Given the description of an element on the screen output the (x, y) to click on. 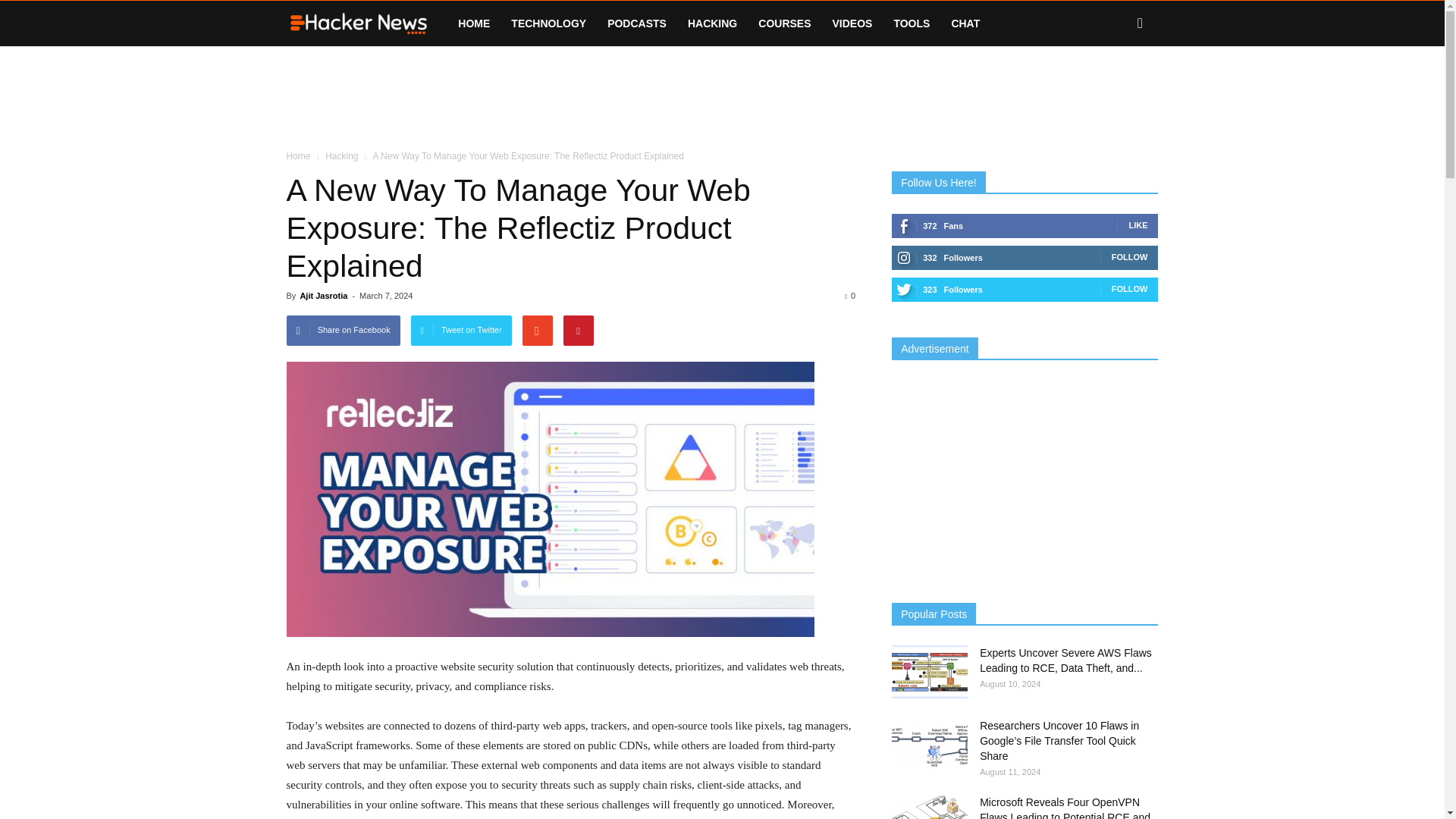
All Hacker News (359, 23)
Home (298, 155)
Tweet on Twitter (461, 330)
PODCASTS (636, 22)
All Hacker News (367, 23)
VIDEOS (852, 22)
TOOLS (911, 22)
TECHNOLOGY (548, 22)
Hacking (341, 155)
CHAT (965, 22)
